Given the description of an element on the screen output the (x, y) to click on. 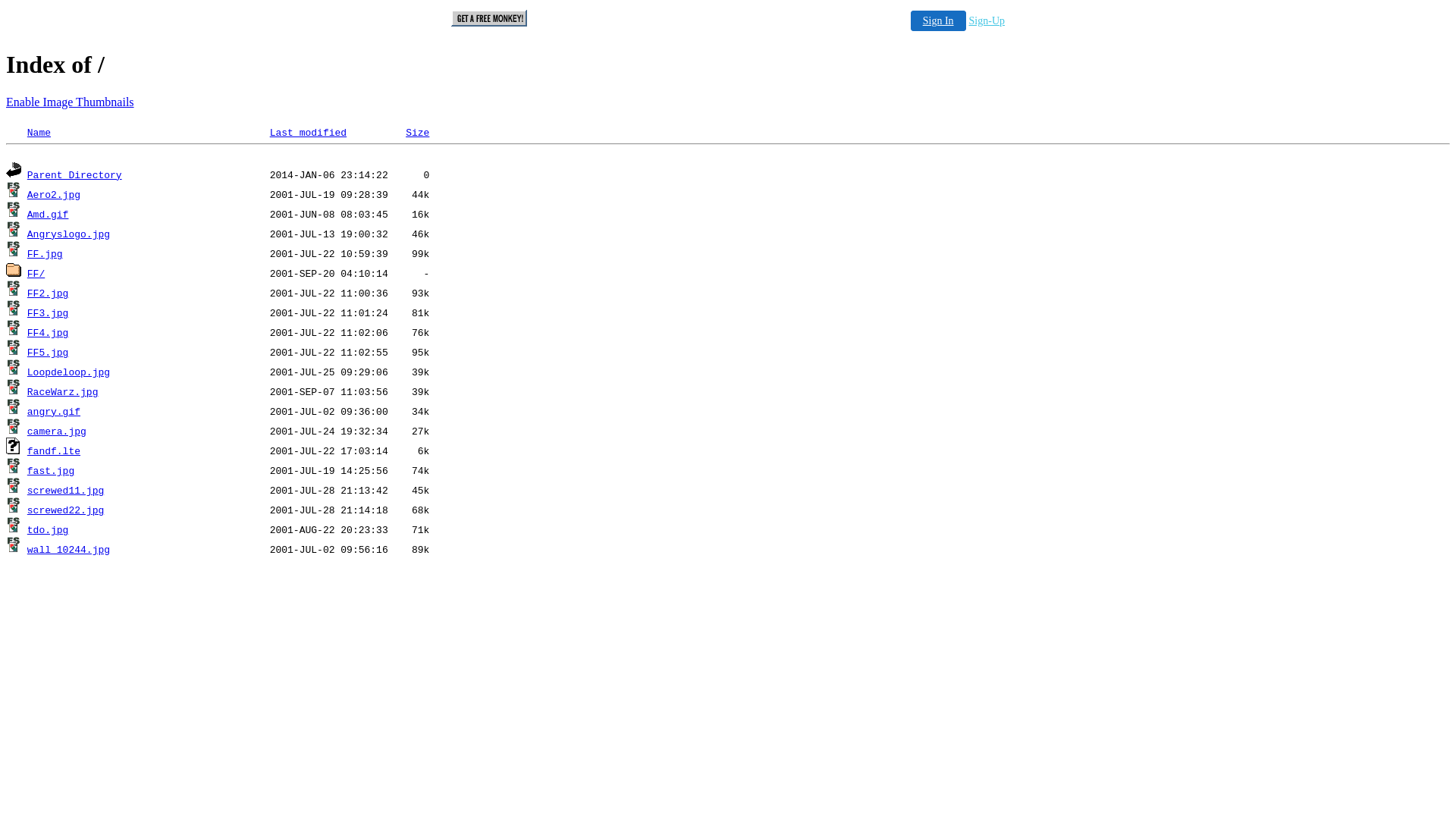
FF3.jpg Element type: text (48, 313)
Angryslogo.jpg Element type: text (68, 234)
angry.gif Element type: text (53, 411)
screwed22.jpg Element type: text (65, 510)
tdo.jpg Element type: text (48, 530)
Sign-Up Element type: text (986, 20)
Last modified Element type: text (307, 132)
screwed11.jpg Element type: text (65, 490)
Name Element type: text (38, 132)
Enable Image Thumbnails Element type: text (70, 101)
FF2.jpg Element type: text (48, 293)
Loopdeloop.jpg Element type: text (68, 372)
RaceWarz.jpg Element type: text (62, 392)
camera.jpg Element type: text (56, 431)
Parent Directory Element type: text (74, 175)
Amd.gif Element type: text (48, 214)
wall_10244.jpg Element type: text (68, 549)
Aero2.jpg Element type: text (53, 194)
Sign In Element type: text (938, 20)
FF.jpg Element type: text (44, 254)
fast.jpg Element type: text (50, 470)
FF5.jpg Element type: text (48, 352)
FF/ Element type: text (35, 273)
Size Element type: text (417, 132)
fandf.lte Element type: text (53, 451)
FF4.jpg Element type: text (48, 332)
